Given the description of an element on the screen output the (x, y) to click on. 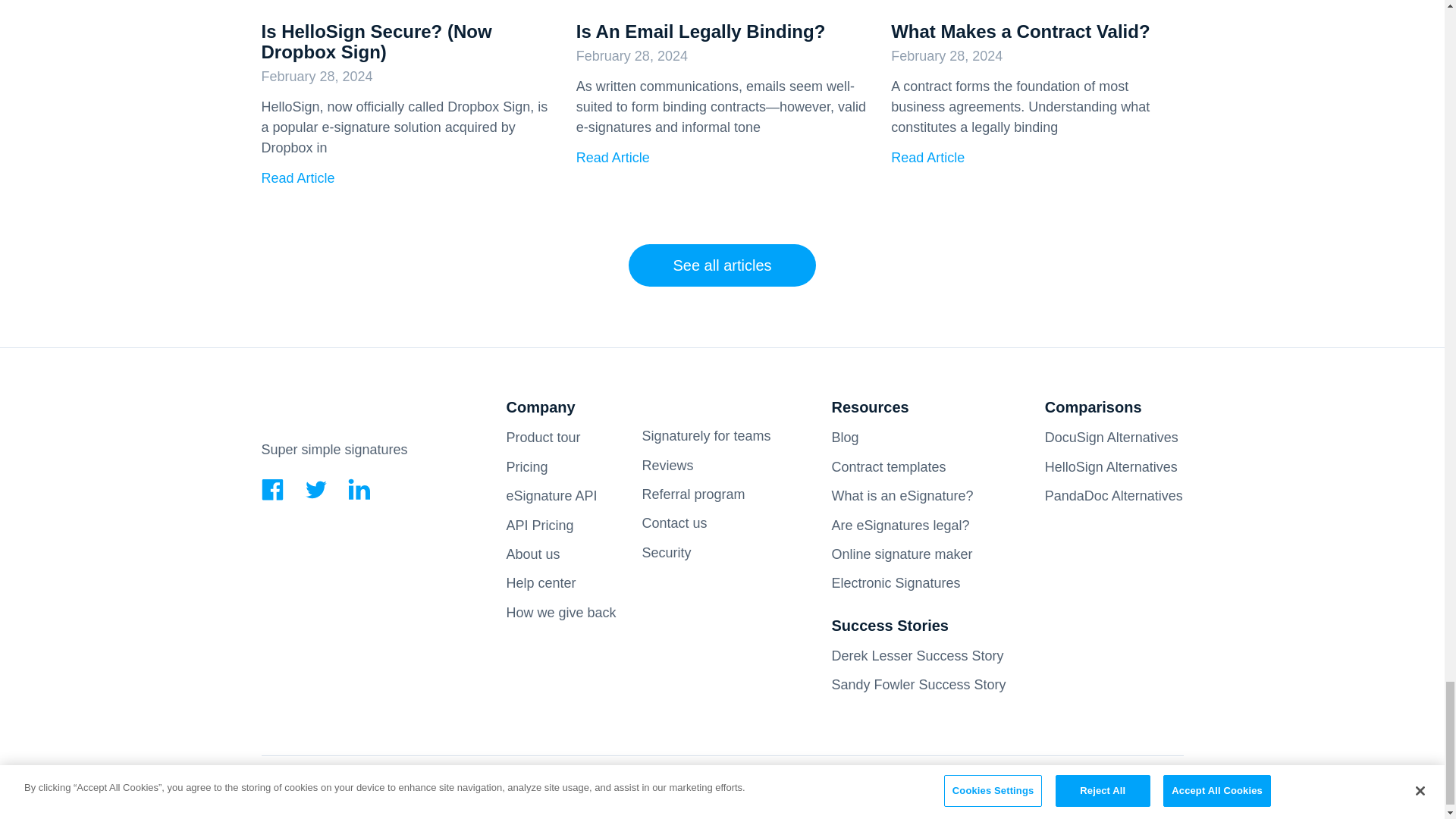
Read Article (927, 157)
Read Article (612, 157)
Is An Email Legally Binding? (700, 31)
See all articles (721, 265)
Read Article (297, 177)
What Makes a Contract Valid? (1020, 31)
